Given the description of an element on the screen output the (x, y) to click on. 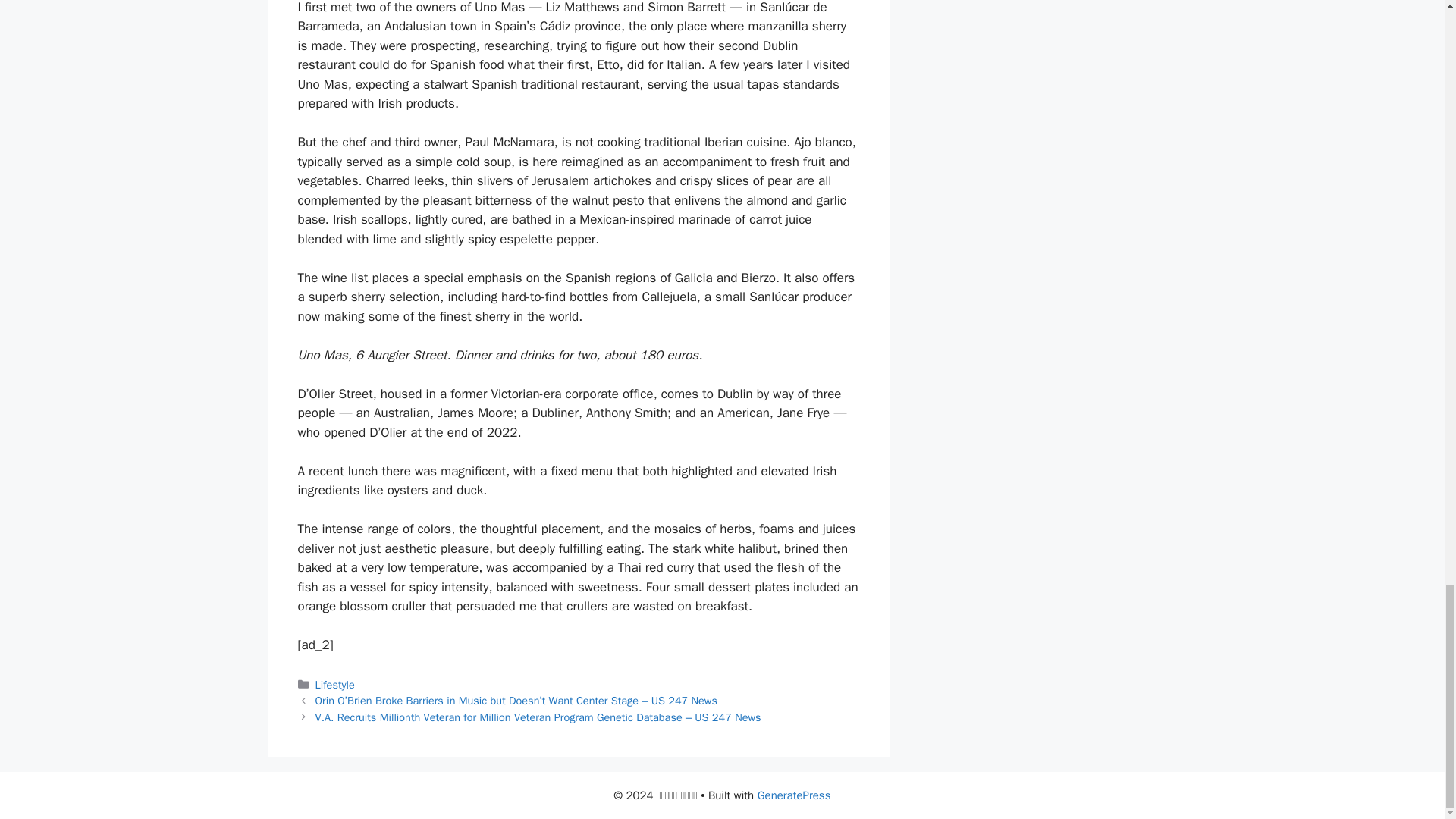
GeneratePress (794, 795)
Lifestyle (335, 684)
